Given the description of an element on the screen output the (x, y) to click on. 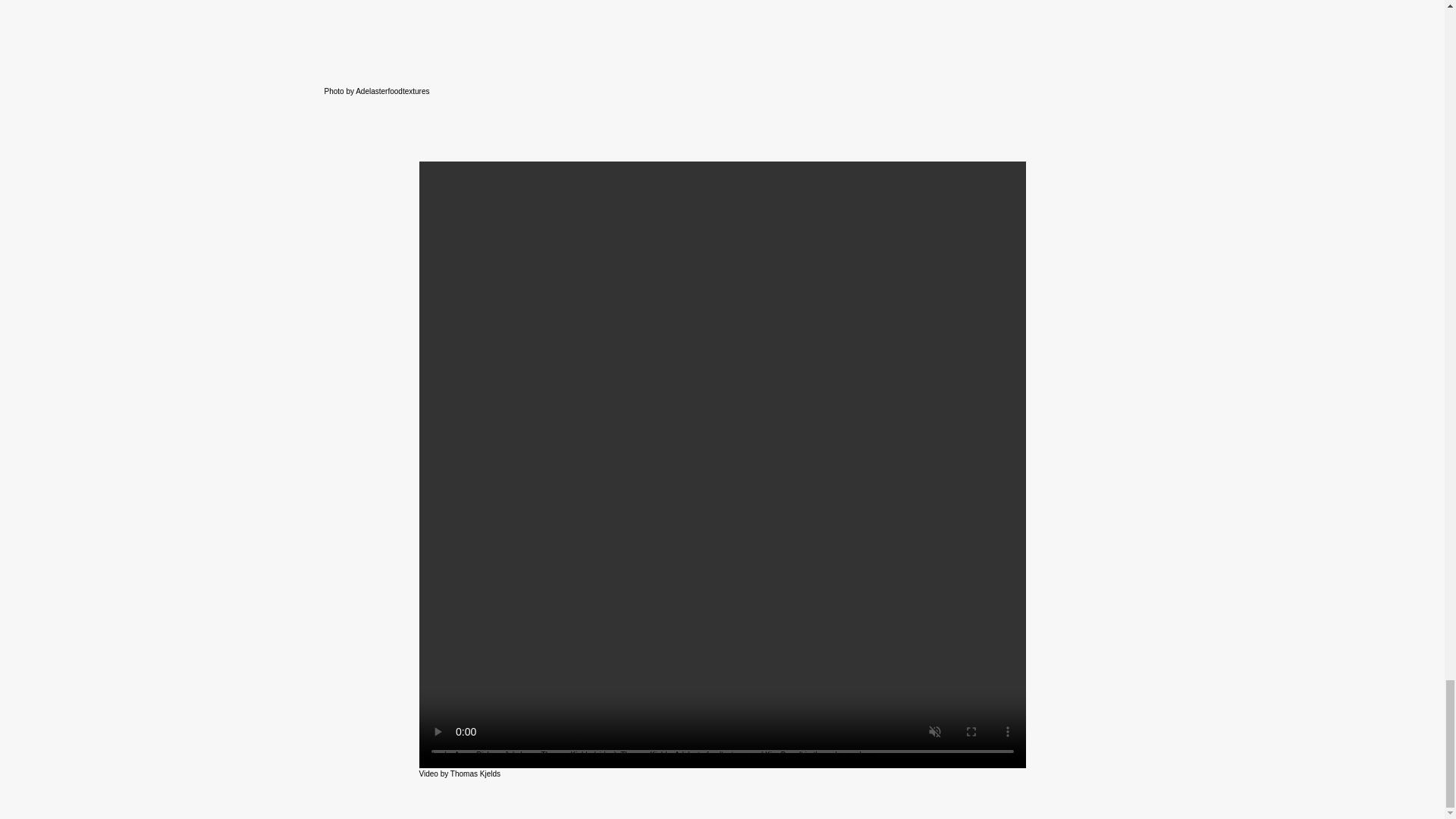
The front terrace of a floating sauna (722, 42)
